Given the description of an element on the screen output the (x, y) to click on. 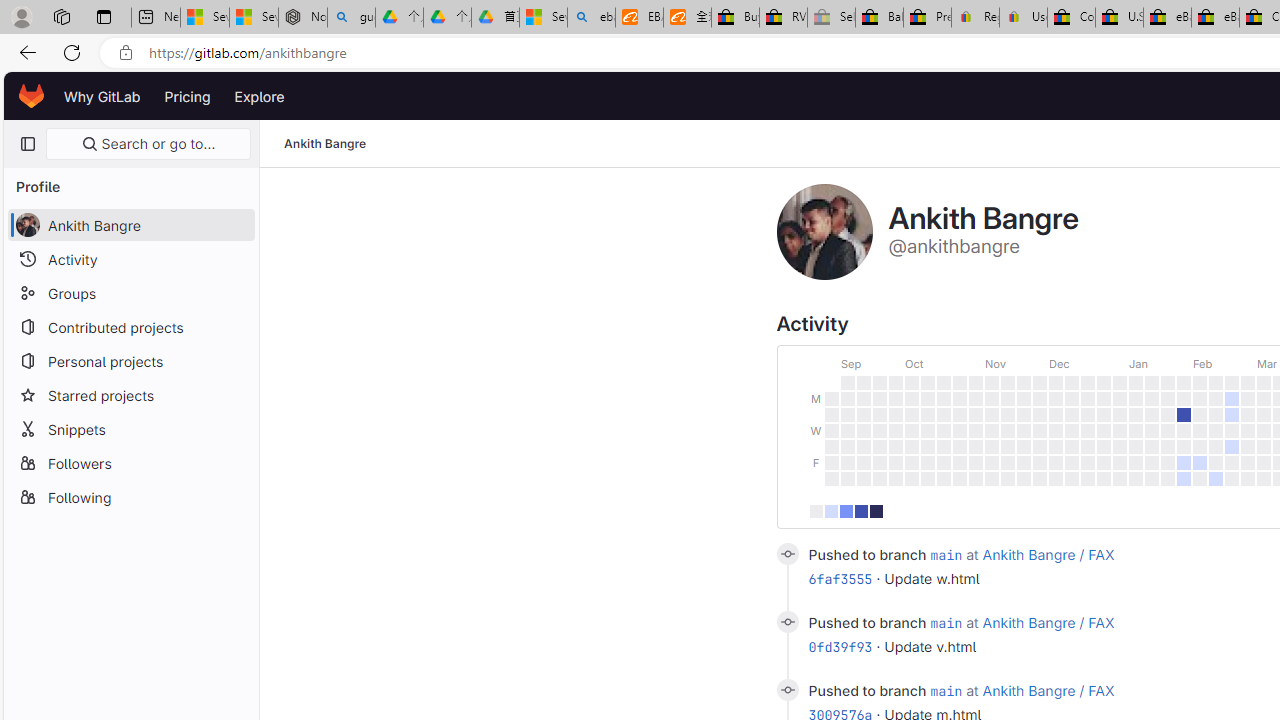
Consumer Health Data Privacy Policy - eBay Inc. (1071, 17)
eBay Inc. Reports Third Quarter 2023 Results (1215, 17)
